Given the description of an element on the screen output the (x, y) to click on. 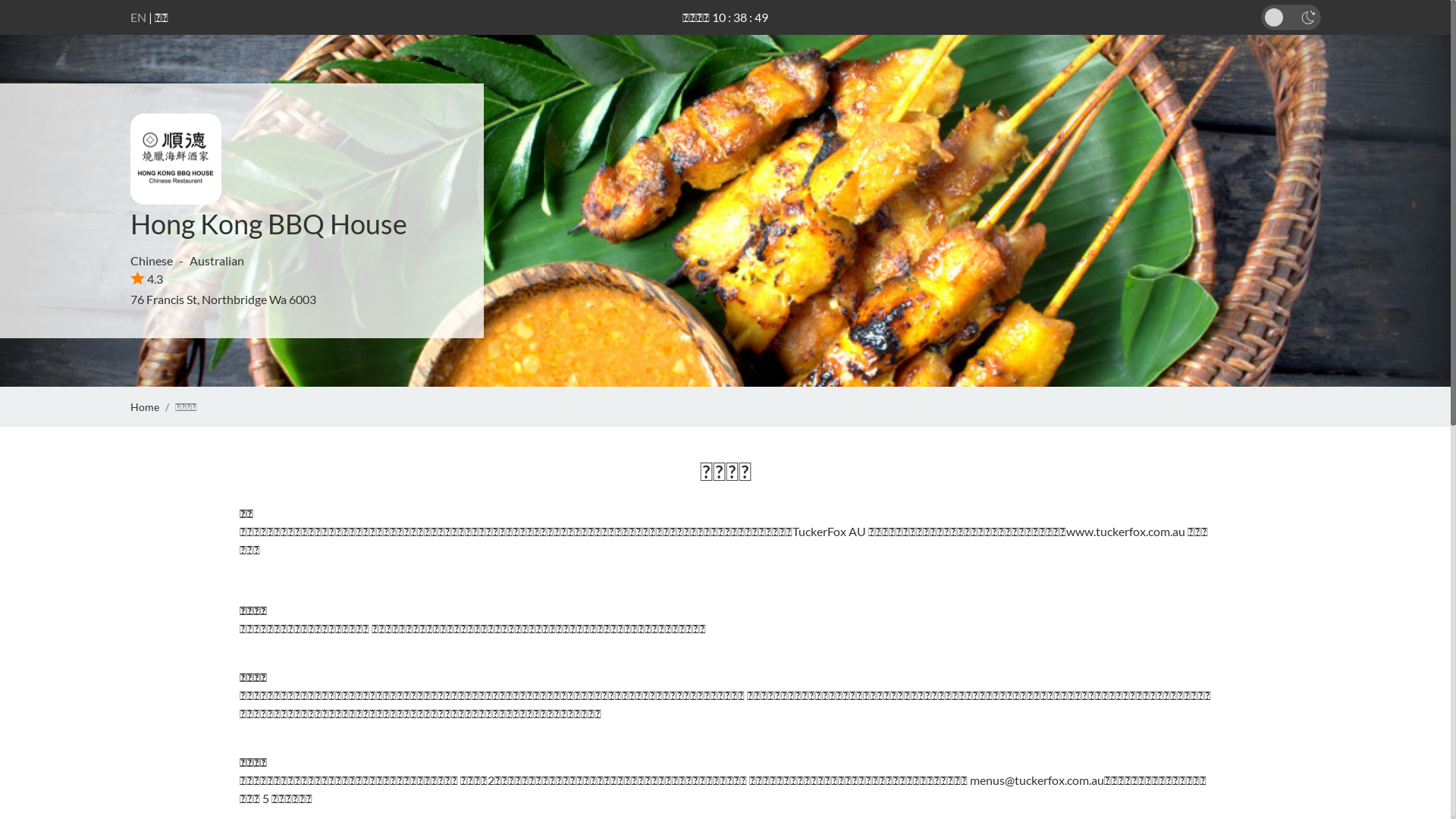
4.3 Element type: text (146, 278)
Hong Kong BBQ House Element type: text (268, 223)
Home Element type: text (144, 406)
EN Element type: text (138, 16)
